Given the description of an element on the screen output the (x, y) to click on. 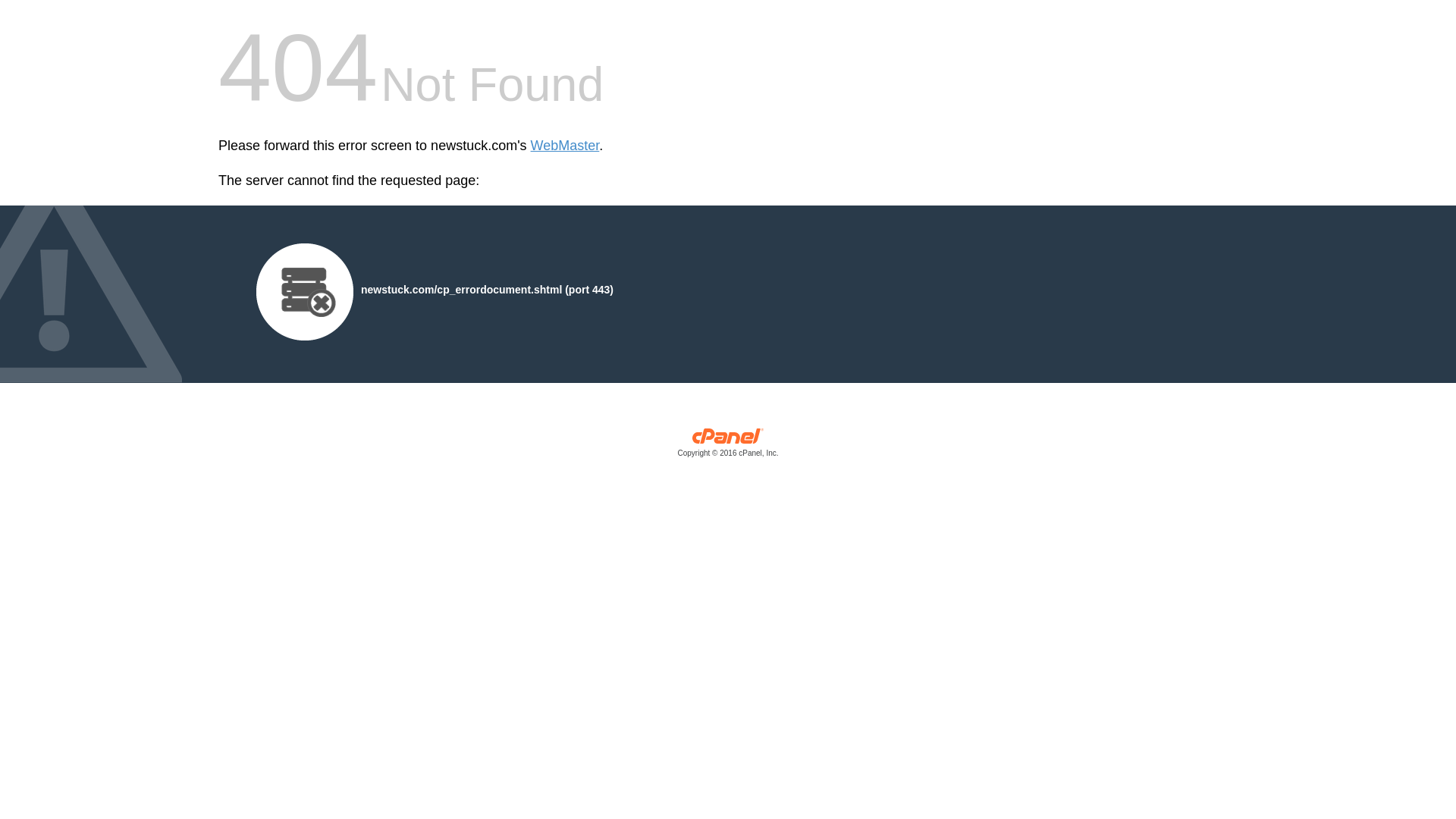
WebMaster (565, 145)
cPanel, Inc. (727, 446)
